Given the description of an element on the screen output the (x, y) to click on. 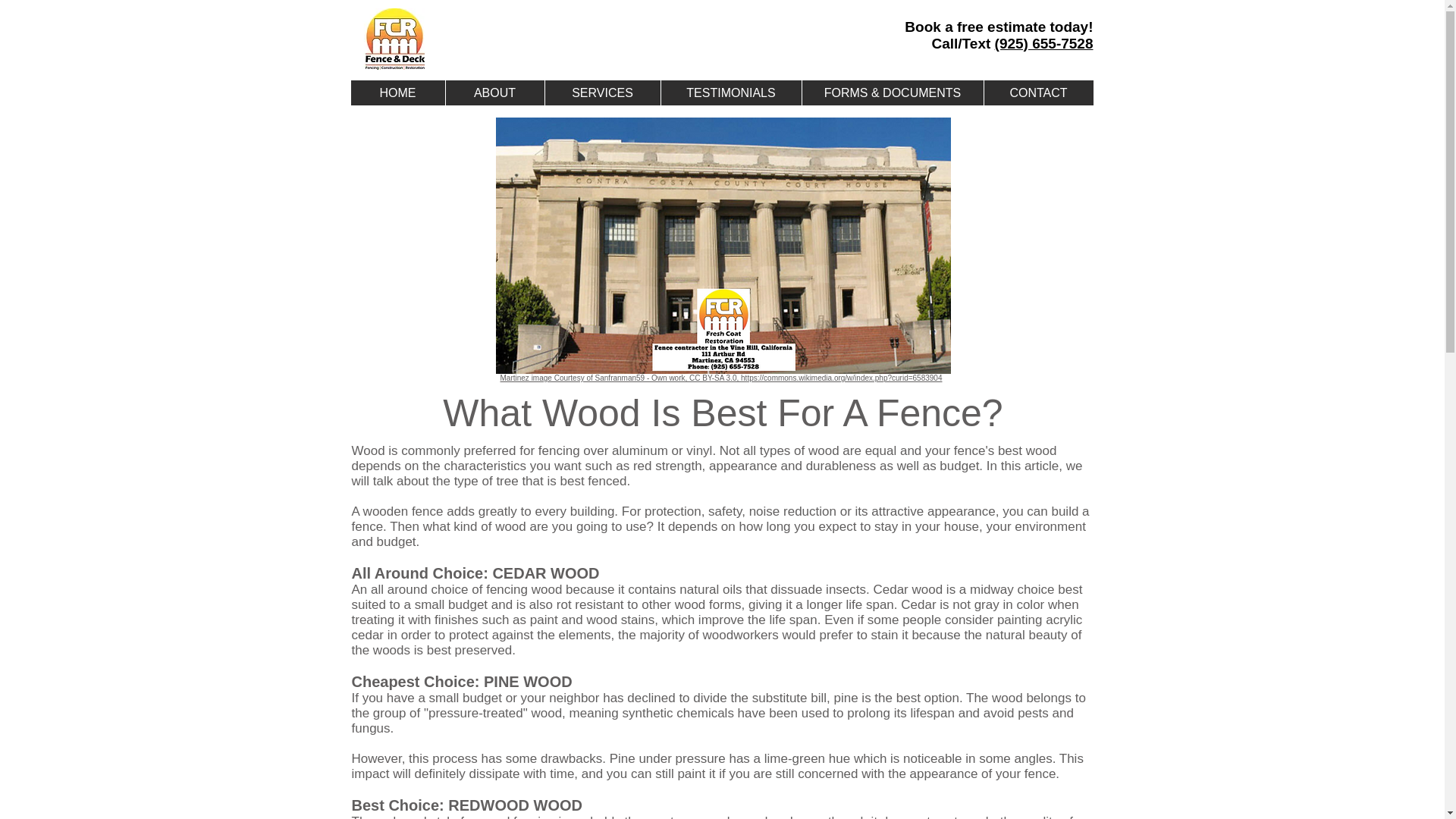
TESTIMONIALS (729, 92)
SERVICES (602, 92)
ABOUT (493, 92)
HOME (397, 92)
CONTACT (1037, 92)
